Given the description of an element on the screen output the (x, y) to click on. 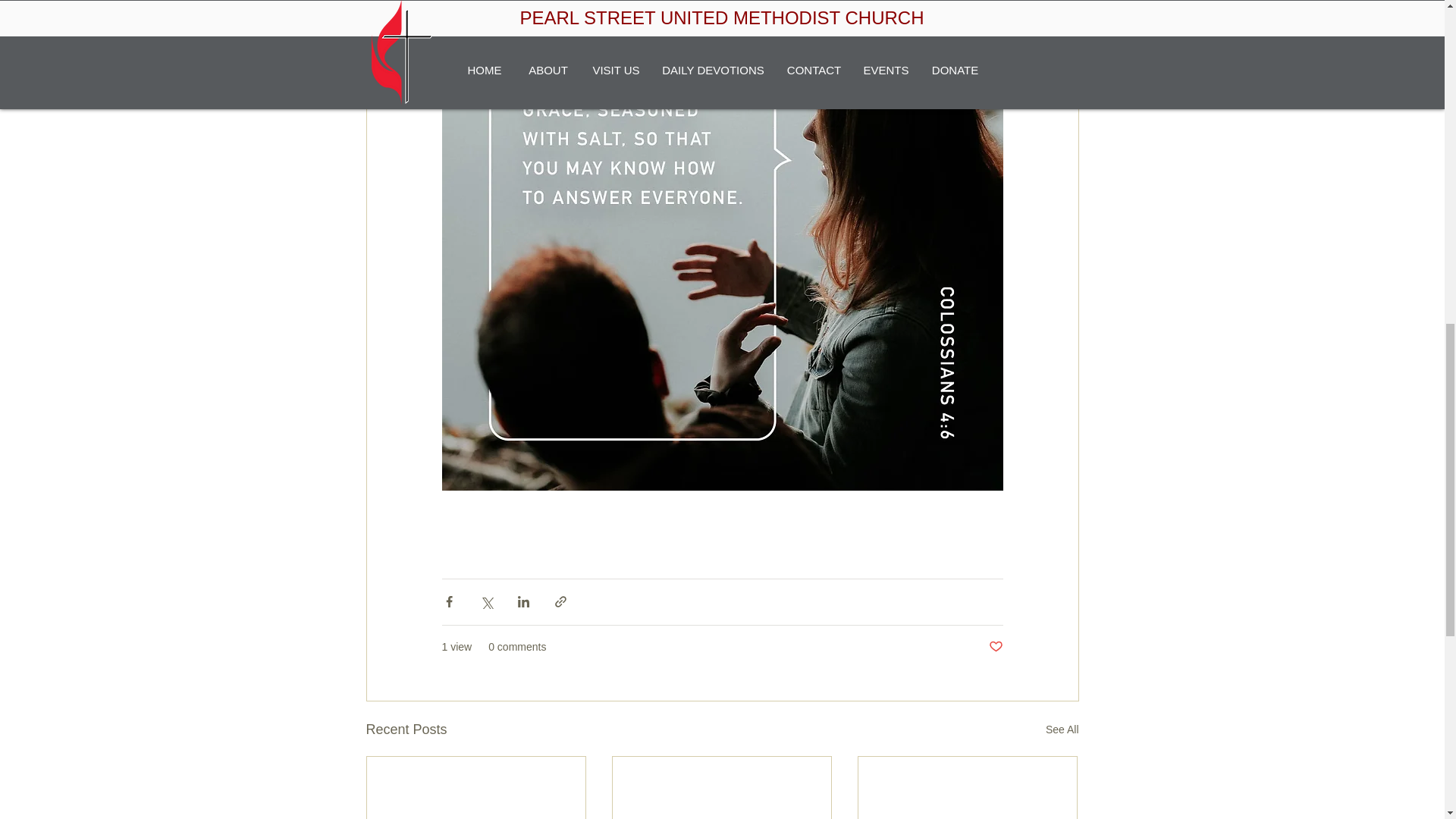
See All (1061, 730)
Post not marked as liked (995, 647)
